Given the description of an element on the screen output the (x, y) to click on. 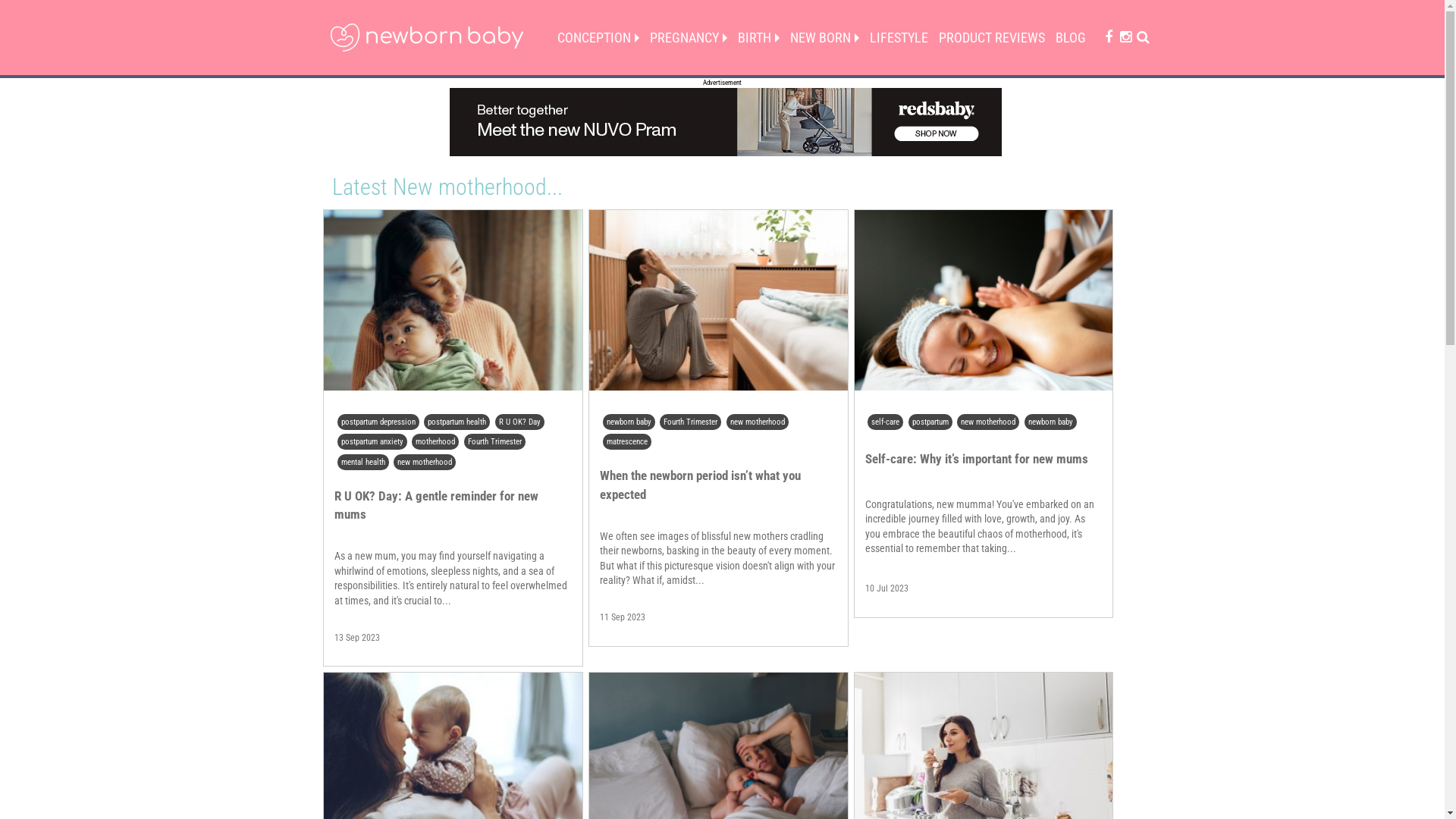
self-care Element type: text (886, 421)
newborn baby Element type: text (628, 421)
CONCEPTION Element type: text (598, 37)
Fourth Trimester Element type: text (494, 442)
new motherhood Element type: text (424, 461)
mental health Element type: text (363, 461)
LIFESTYLE Element type: text (898, 37)
matrescence Element type: text (626, 442)
3rd party ad content Element type: hover (724, 121)
PREGNANCY Element type: text (688, 37)
postpartum anxiety Element type: text (372, 442)
R U OK? Day Element type: text (519, 421)
motherhood Element type: text (435, 442)
new motherhood Element type: text (757, 421)
new motherhood Element type: text (988, 421)
postpartum depression Element type: text (378, 421)
newborn baby Element type: text (1050, 421)
NEW BORN Element type: text (823, 37)
R U OK? Day: A gentle reminder for new mums Element type: text (436, 504)
BLOG Element type: text (1069, 37)
postpartum health Element type: text (456, 421)
BIRTH Element type: text (758, 37)
postpartum Element type: text (930, 421)
Fourth Trimester Element type: text (690, 421)
PRODUCT REVIEWS Element type: text (990, 37)
